Given the description of an element on the screen output the (x, y) to click on. 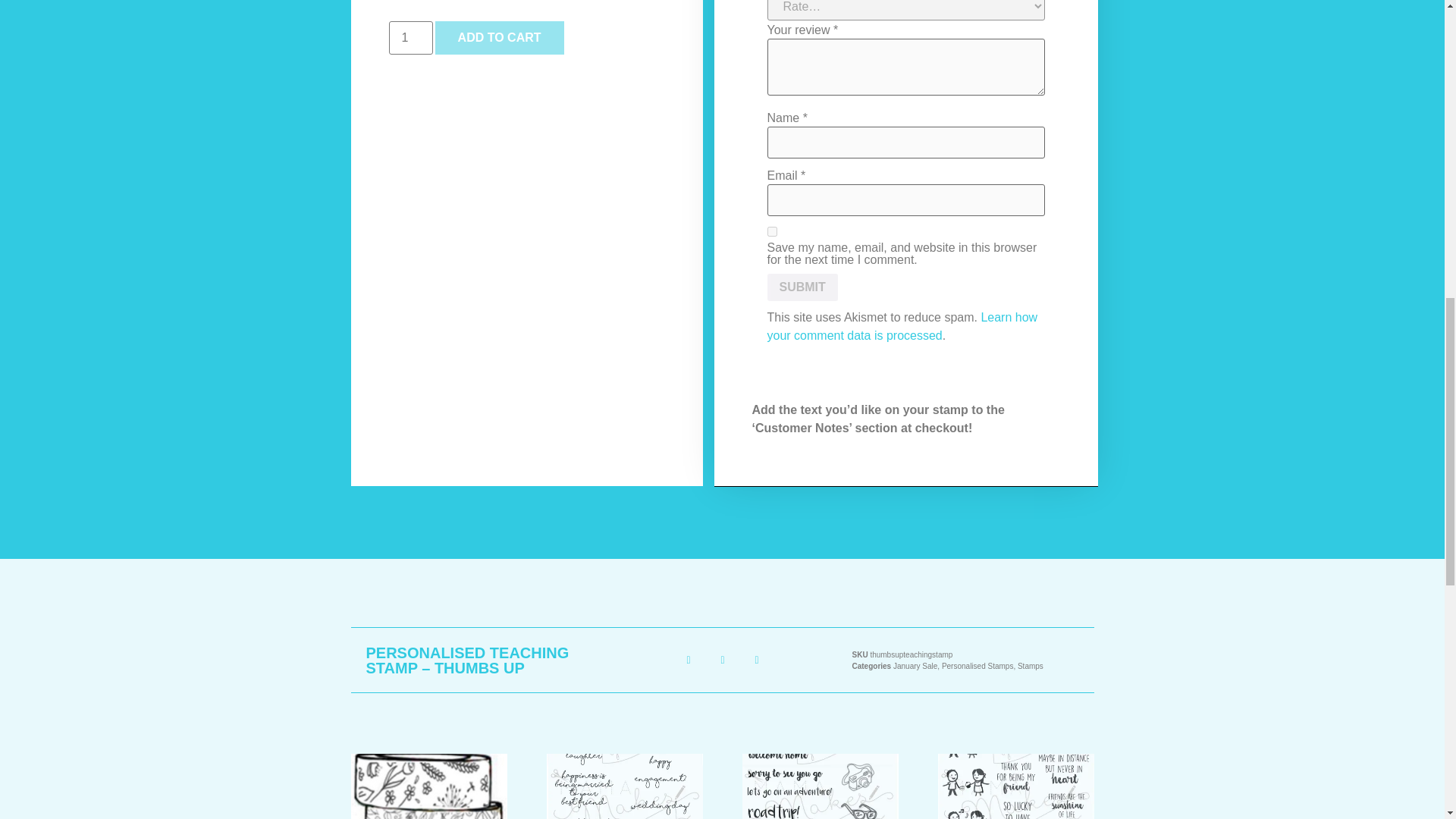
yes (772, 231)
Submit (802, 287)
1 (410, 37)
